Given the description of an element on the screen output the (x, y) to click on. 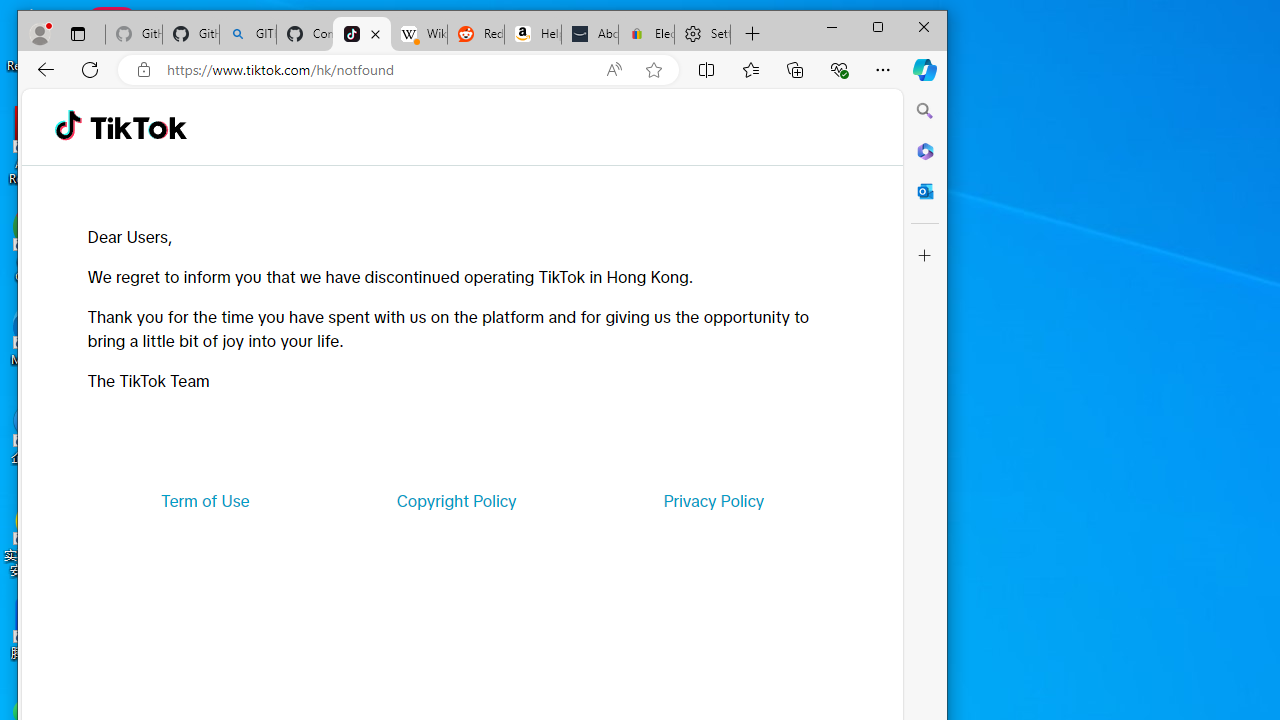
Copyright Policy (456, 500)
Reddit - Dive into anything (476, 34)
Maximize (878, 26)
TikTok (362, 34)
GITHUB - Search (248, 34)
